Given the description of an element on the screen output the (x, y) to click on. 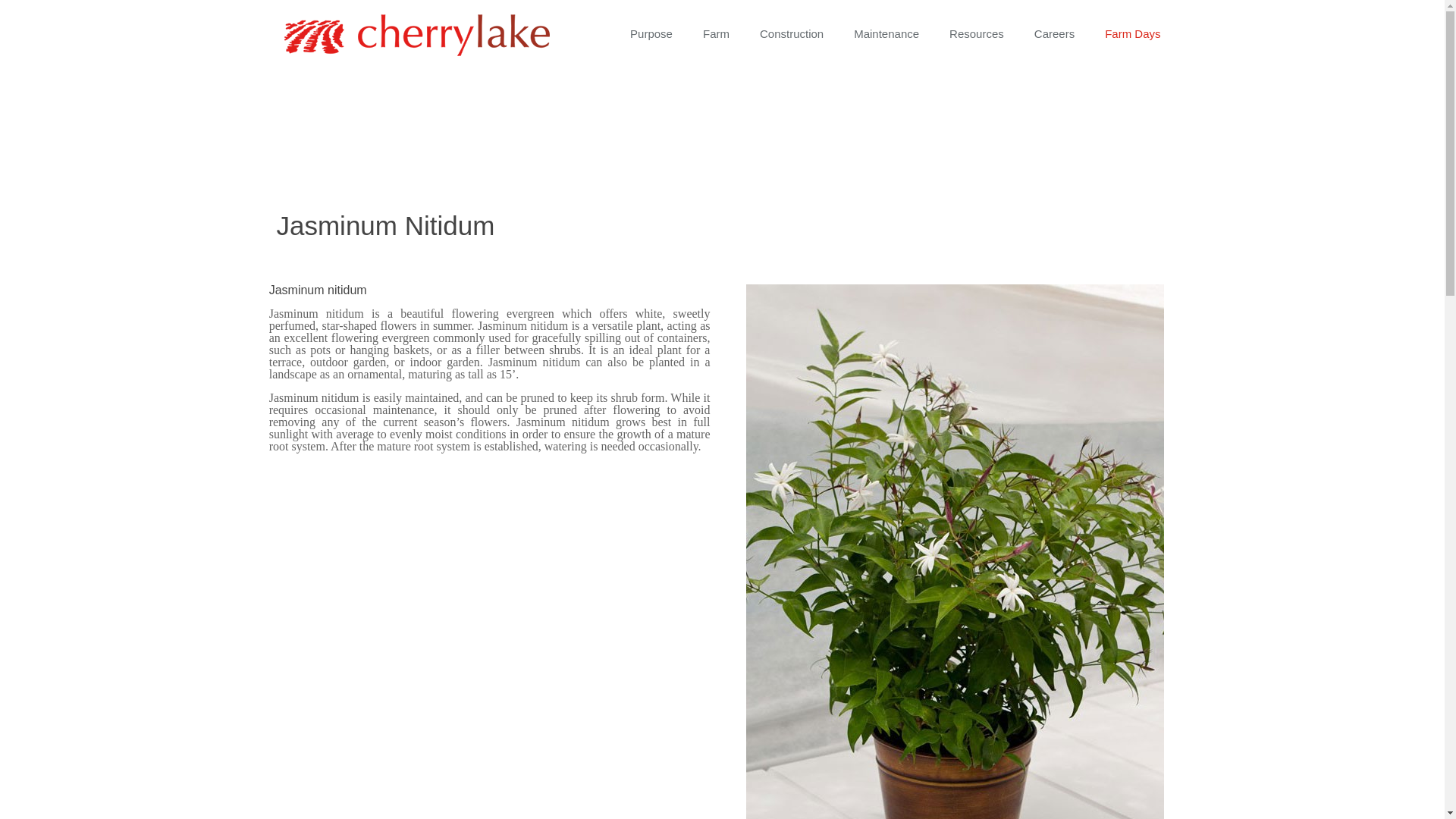
Resources (976, 33)
Purpose (650, 33)
Construction (791, 33)
Careers (1054, 33)
Maintenance (886, 33)
Cherrylake (415, 33)
Farm Days (1131, 33)
